Given the description of an element on the screen output the (x, y) to click on. 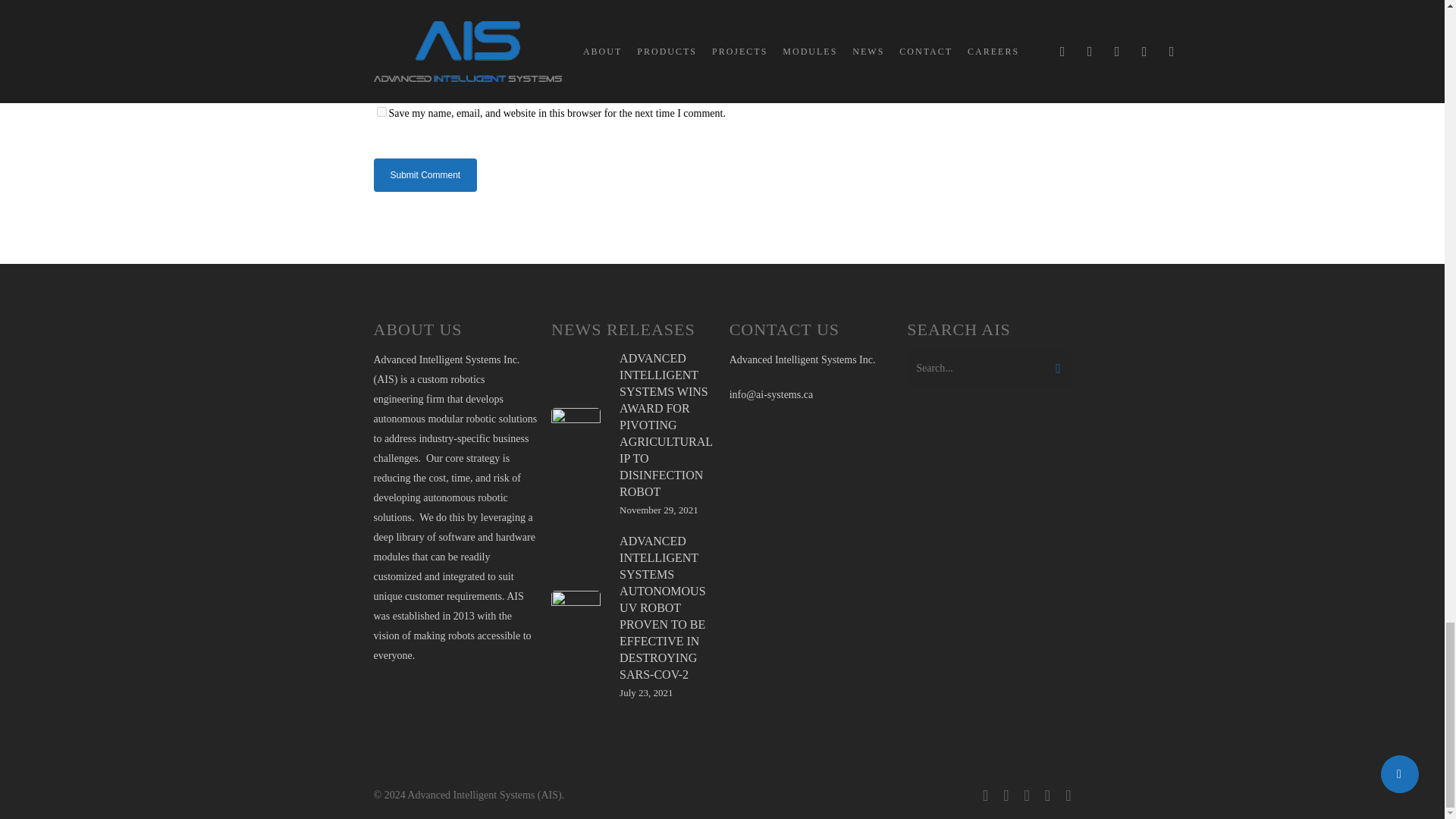
Submit Comment (424, 174)
yes (380, 112)
Search for: (988, 368)
